Given the description of an element on the screen output the (x, y) to click on. 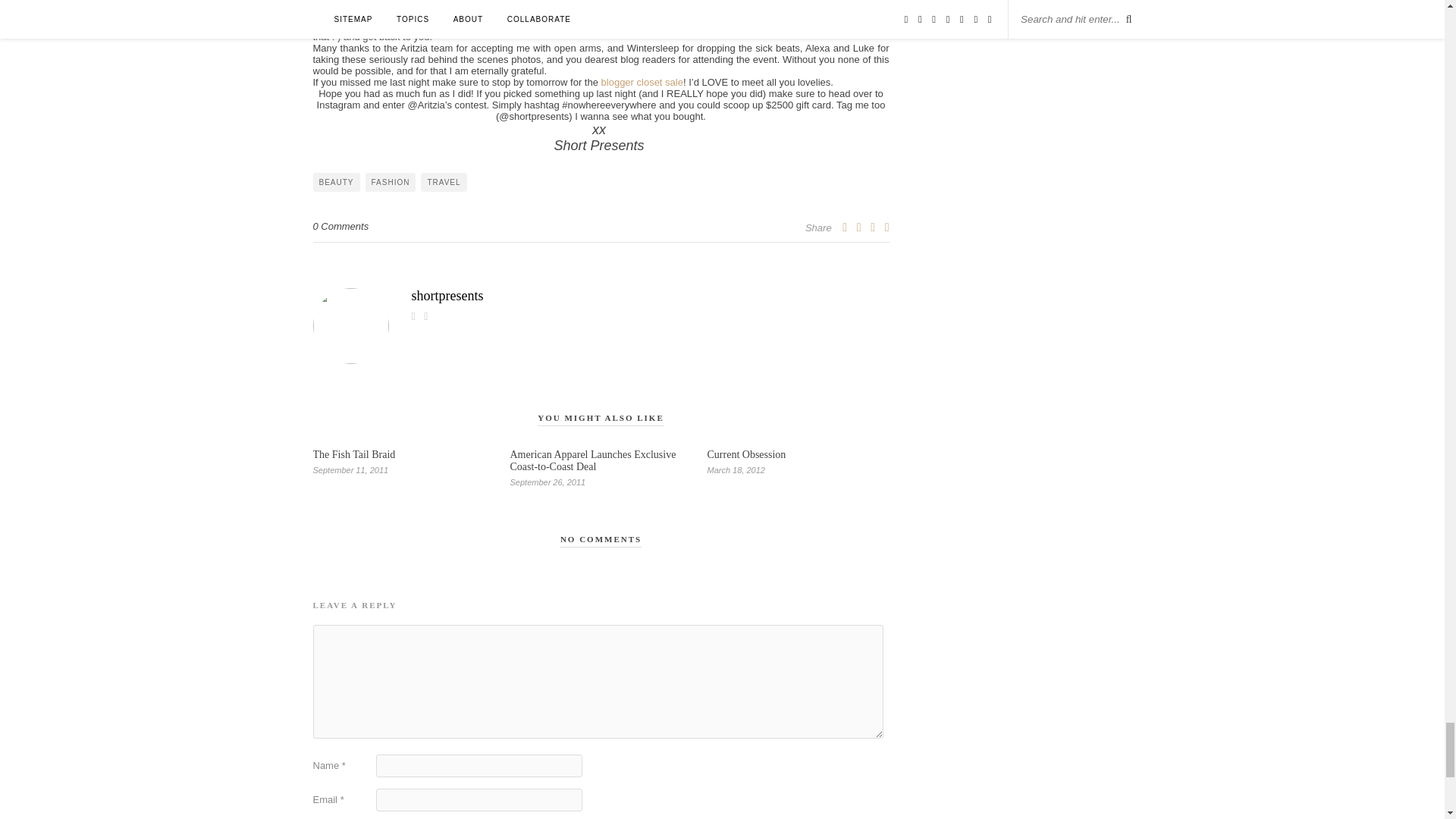
Posts by shortpresents (600, 295)
